Given the description of an element on the screen output the (x, y) to click on. 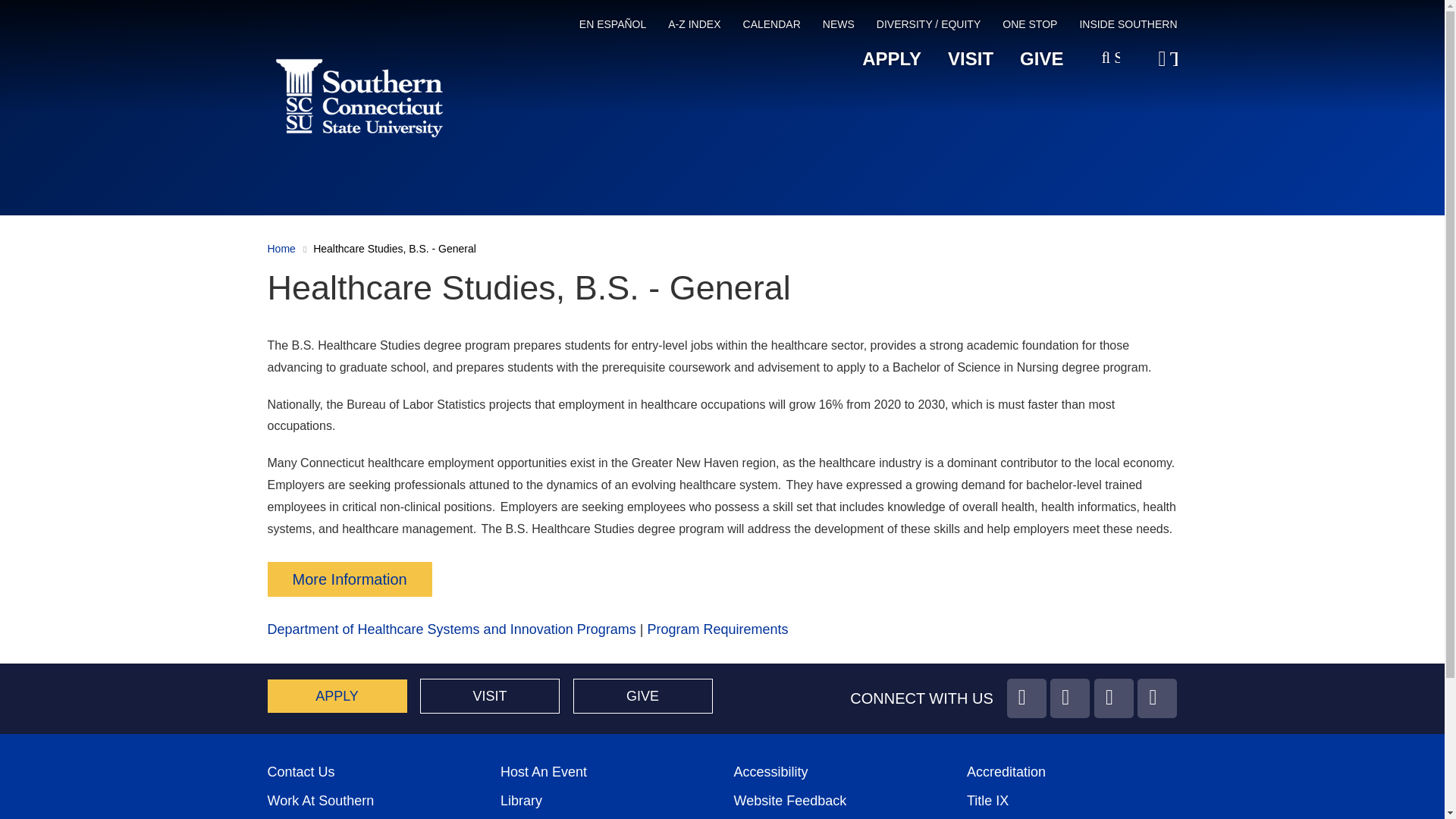
VISIT (489, 695)
NEWS (838, 27)
GIVE (1041, 59)
INSIDE SOUTHERN (1127, 27)
A-Z INDEX (694, 27)
VISIT (969, 59)
More Information (348, 579)
Department of Healthcare Systems and Innovation Programs (450, 629)
APPLY (891, 59)
APPLY (336, 695)
ONE STOP (1030, 27)
Program Requirements (716, 629)
CALENDAR (771, 27)
Home (280, 248)
